Given the description of an element on the screen output the (x, y) to click on. 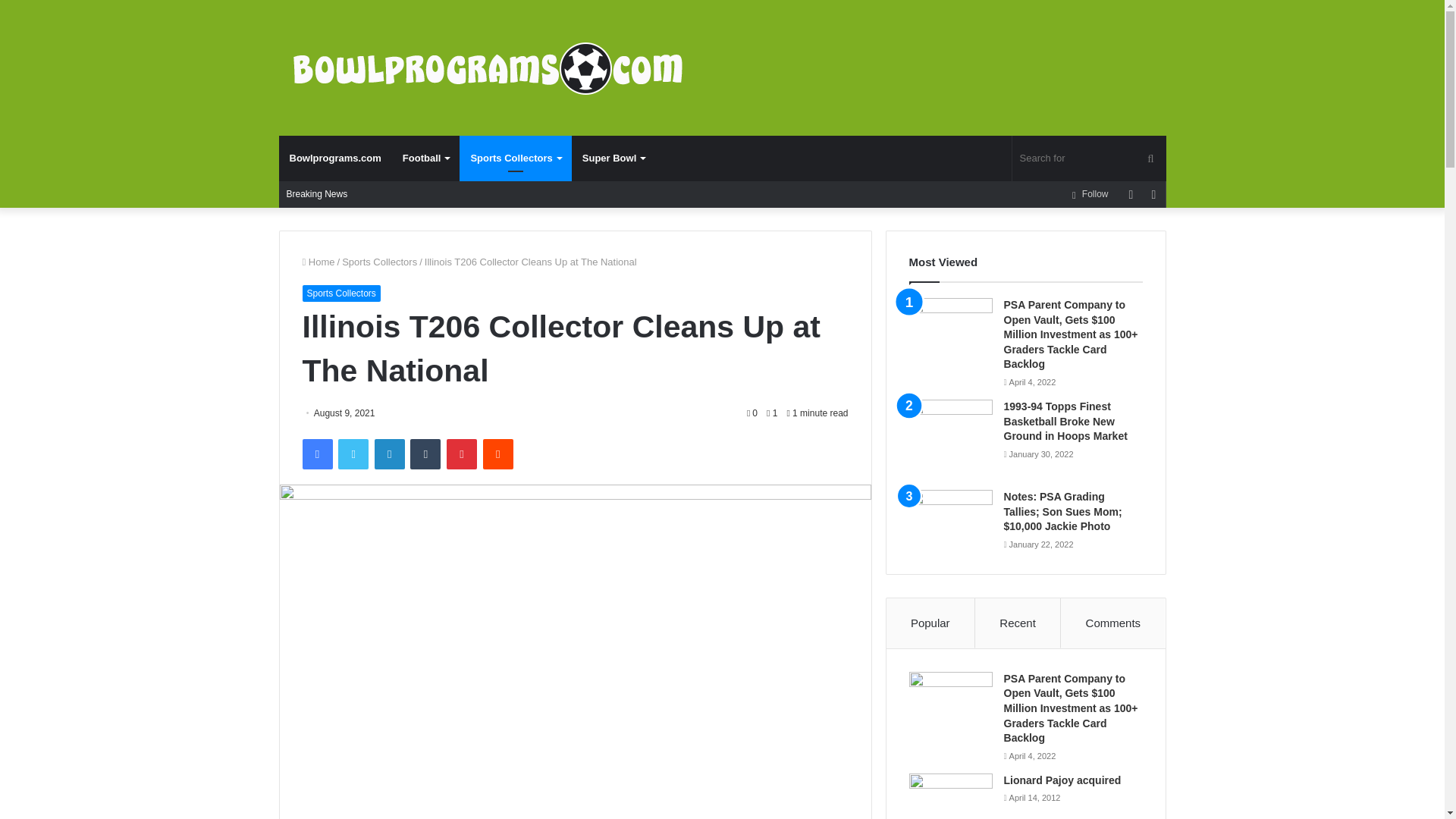
Pinterest (461, 453)
Sports Collectors (515, 157)
Tumblr (425, 453)
Follow (1090, 194)
Pinterest (461, 453)
Twitter (352, 453)
Twitter (352, 453)
Sports Collectors (379, 261)
Sports Collectors (340, 293)
Reddit (498, 453)
